Given the description of an element on the screen output the (x, y) to click on. 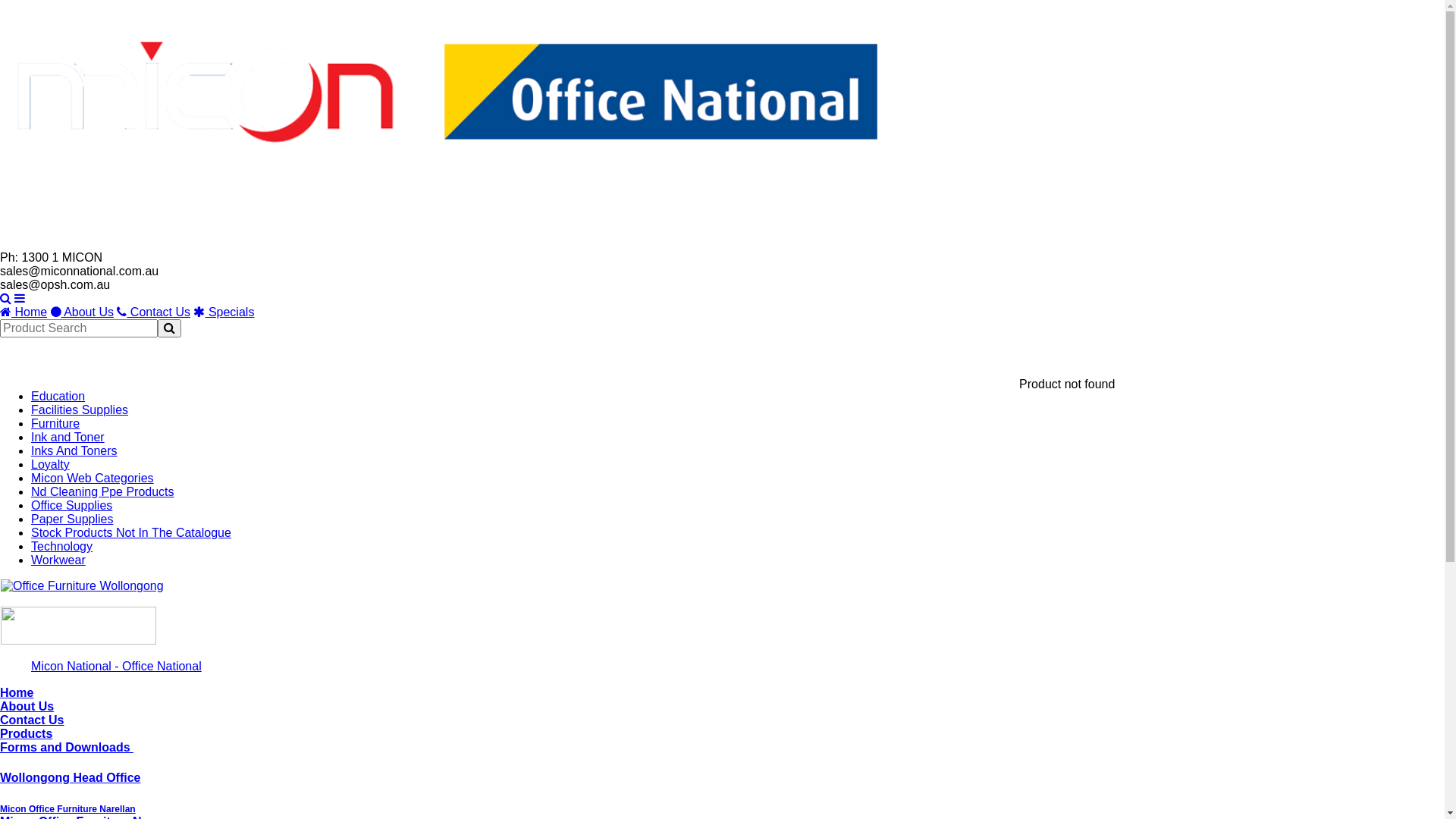
Paper Supplies Element type: text (72, 518)
Micon National Office Furniture Element type: hover (81, 585)
Facilities Supplies Element type: text (474, 347)
Contact Us Element type: text (153, 311)
Wollongong Head Office Element type: text (70, 778)
Technology Element type: text (582, 347)
Technology Element type: text (61, 545)
Nd Cleaning Ppe Products Element type: text (102, 491)
Home Element type: text (23, 311)
Cart ($0.00) Element type: text (220, 10)
About Us Element type: text (81, 311)
Print & Promotion Element type: text (690, 347)
Home Element type: text (16, 692)
Products Element type: text (26, 733)
Furniture Element type: text (55, 423)
Office Furniture Wollongong Element type: hover (81, 586)
Workwear Element type: text (58, 559)
Micon Web Categories Element type: text (92, 477)
Office Supplies Element type: text (71, 504)
Paper Supplies Element type: text (173, 347)
Specials Element type: text (223, 311)
Contact Us Element type: text (31, 719)
Education Element type: text (57, 395)
Micon Office Furniture Narellan Element type: text (67, 808)
Inks & Toners Element type: text (280, 347)
Ink and Toner Element type: text (67, 436)
Login Element type: text (43, 10)
Micon National - Office National Element type: text (116, 665)
Inks And Toners Element type: text (74, 450)
Forms and Downloads  Element type: text (66, 746)
Stock Products Not In The Catalogue Element type: text (131, 532)
Facilities Supplies Element type: text (79, 409)
Register Element type: text (123, 10)
Office Supplies Element type: text (62, 347)
Furniture Element type: text (371, 347)
Loyalty Element type: text (50, 464)
About Us Element type: text (26, 705)
